Given the description of an element on the screen output the (x, y) to click on. 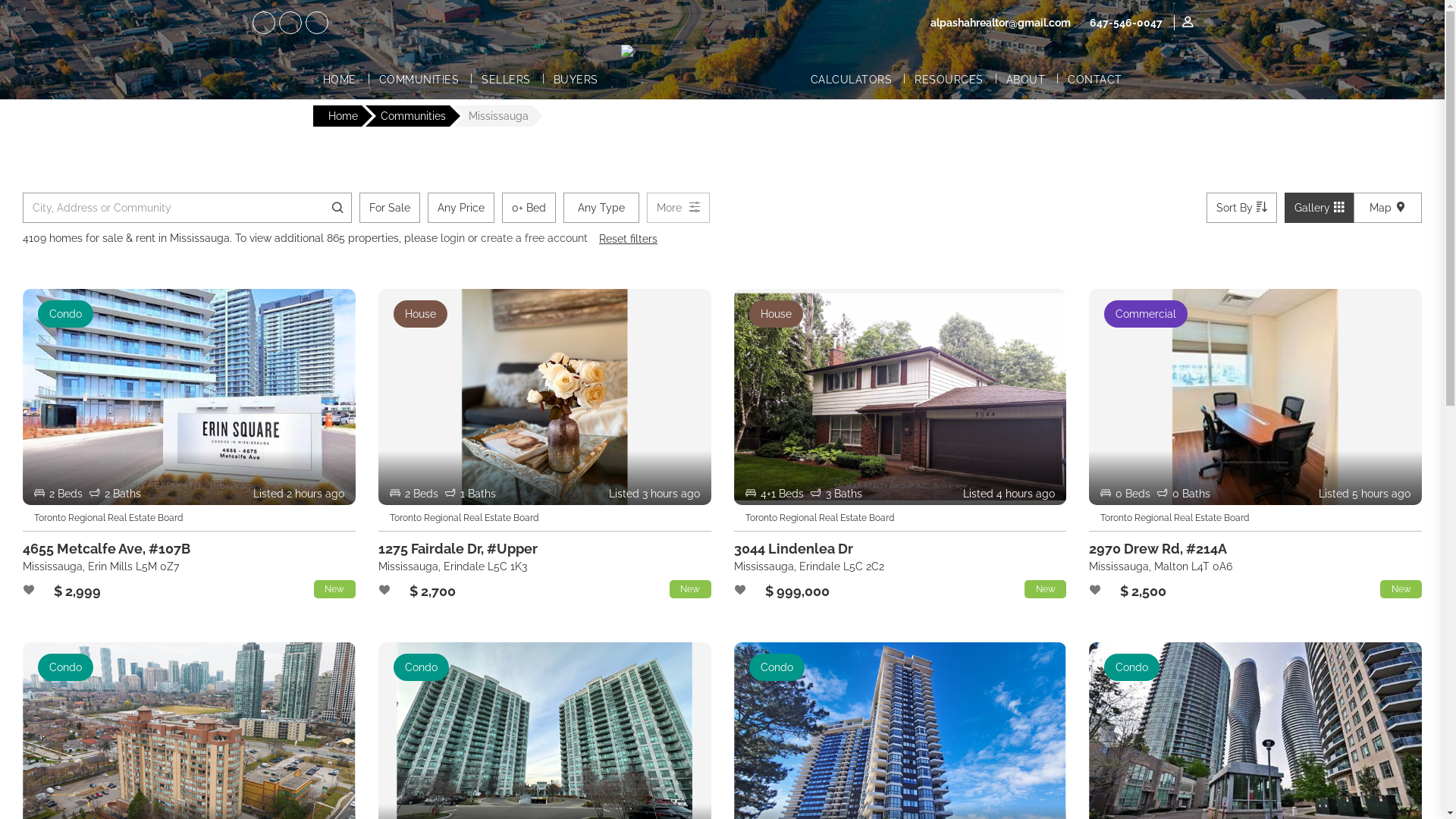
SELLERS Element type: text (506, 79)
CONTACT Element type: text (1094, 79)
CALCULATORS Element type: text (851, 79)
COMMUNITIES Element type: text (418, 79)
0+ Bed Element type: text (528, 207)
ABOUT Element type: text (1025, 79)
alpashahrealtor@gmail.com Element type: text (998, 22)
Gallery Element type: text (1319, 207)
Home Element type: text (342, 115)
Communities Element type: text (412, 115)
More Element type: text (677, 207)
Any Price Element type: text (460, 207)
Reset filters Element type: text (628, 238)
Map Element type: text (1387, 207)
647-546-0047 Element type: text (1123, 22)
Any Type Element type: text (601, 207)
RESOURCES Element type: text (948, 79)
Sort By Element type: text (1241, 207)
For Sale Element type: text (389, 207)
HOME Element type: text (338, 79)
BUYERS Element type: text (574, 79)
